Given the description of an element on the screen output the (x, y) to click on. 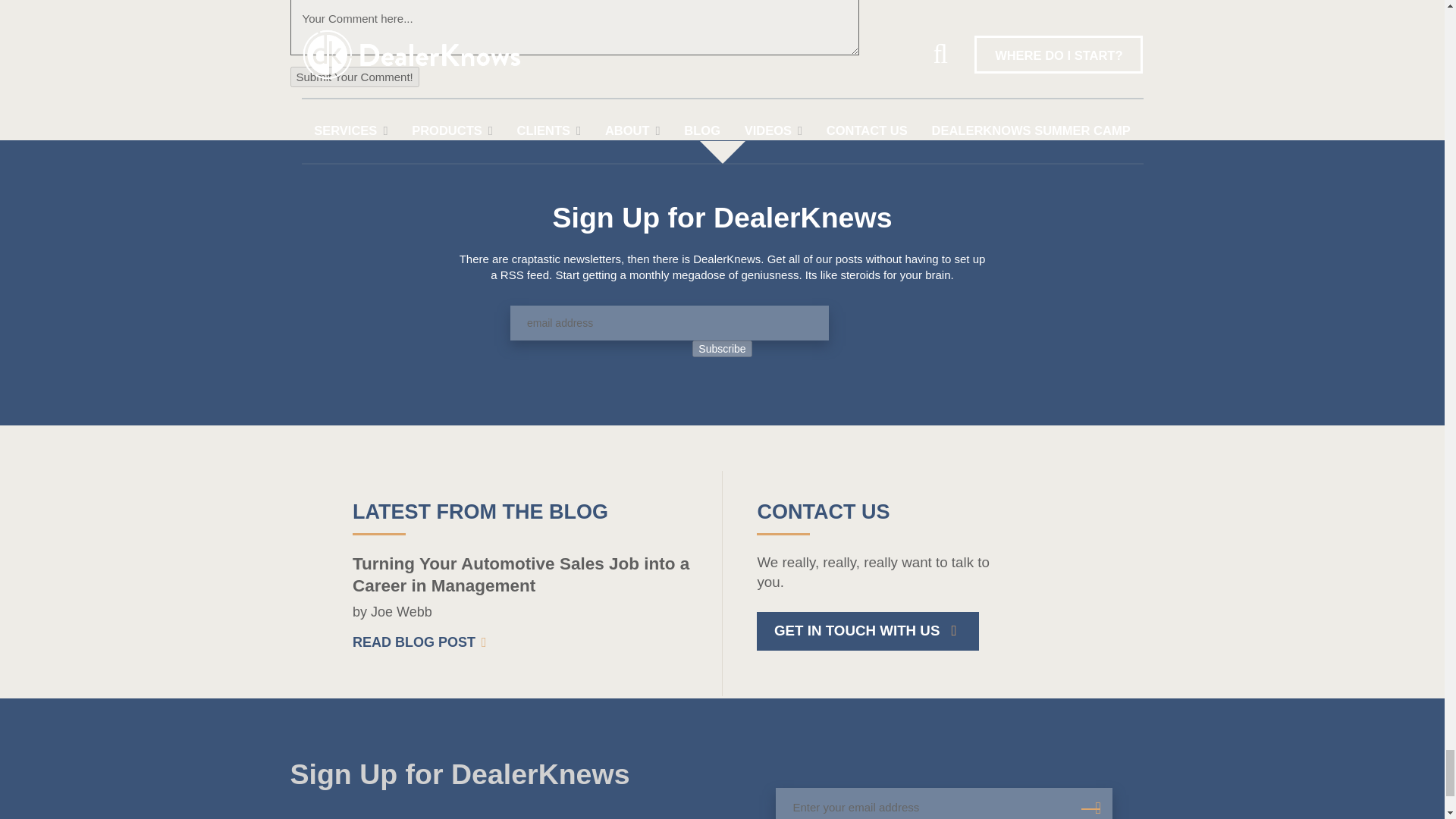
Submit Your Comment! (354, 76)
Subscribe (722, 348)
